Given the description of an element on the screen output the (x, y) to click on. 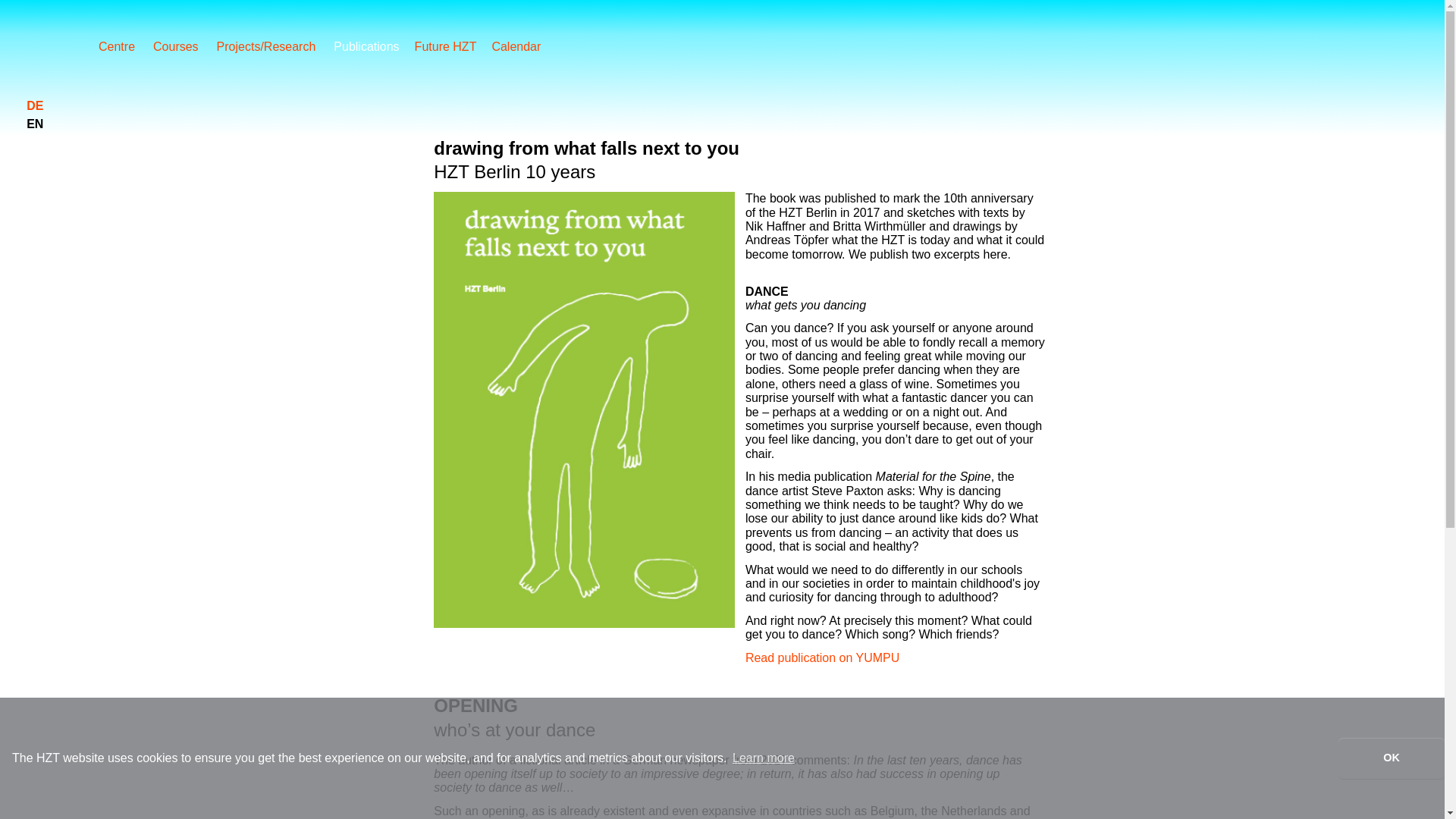
Calendar (524, 47)
DE (34, 105)
Courses (184, 46)
Read publication on YUMPU (822, 656)
Learn more (763, 758)
Future HZT (453, 47)
Centre (125, 46)
Publications (373, 47)
Publications (373, 47)
Future HZT (453, 47)
